Given the description of an element on the screen output the (x, y) to click on. 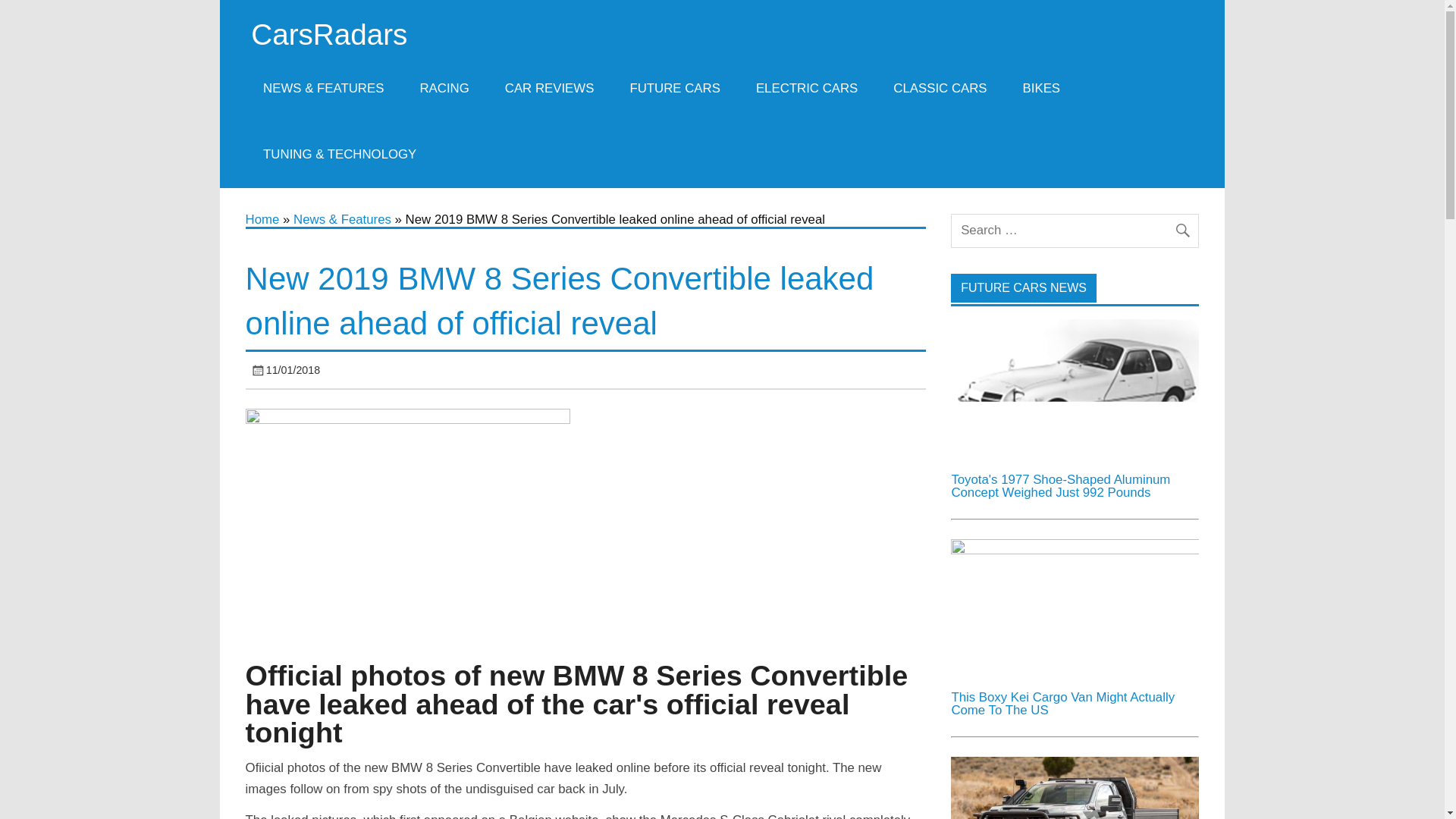
FUTURE CARS (674, 88)
ELECTRIC CARS (806, 88)
Home (262, 219)
10:03 am (293, 369)
BIKES (1041, 88)
CAR REVIEWS (548, 88)
This Boxy Kei Cargo Van Might Actually Come To The US (1074, 608)
This Boxy Kei Cargo Van Might Actually Come To The US (1062, 703)
CLASSIC CARS (940, 88)
This Boxy Kei Cargo Van Might Actually Come To The US (1074, 549)
RACING (443, 88)
